Given the description of an element on the screen output the (x, y) to click on. 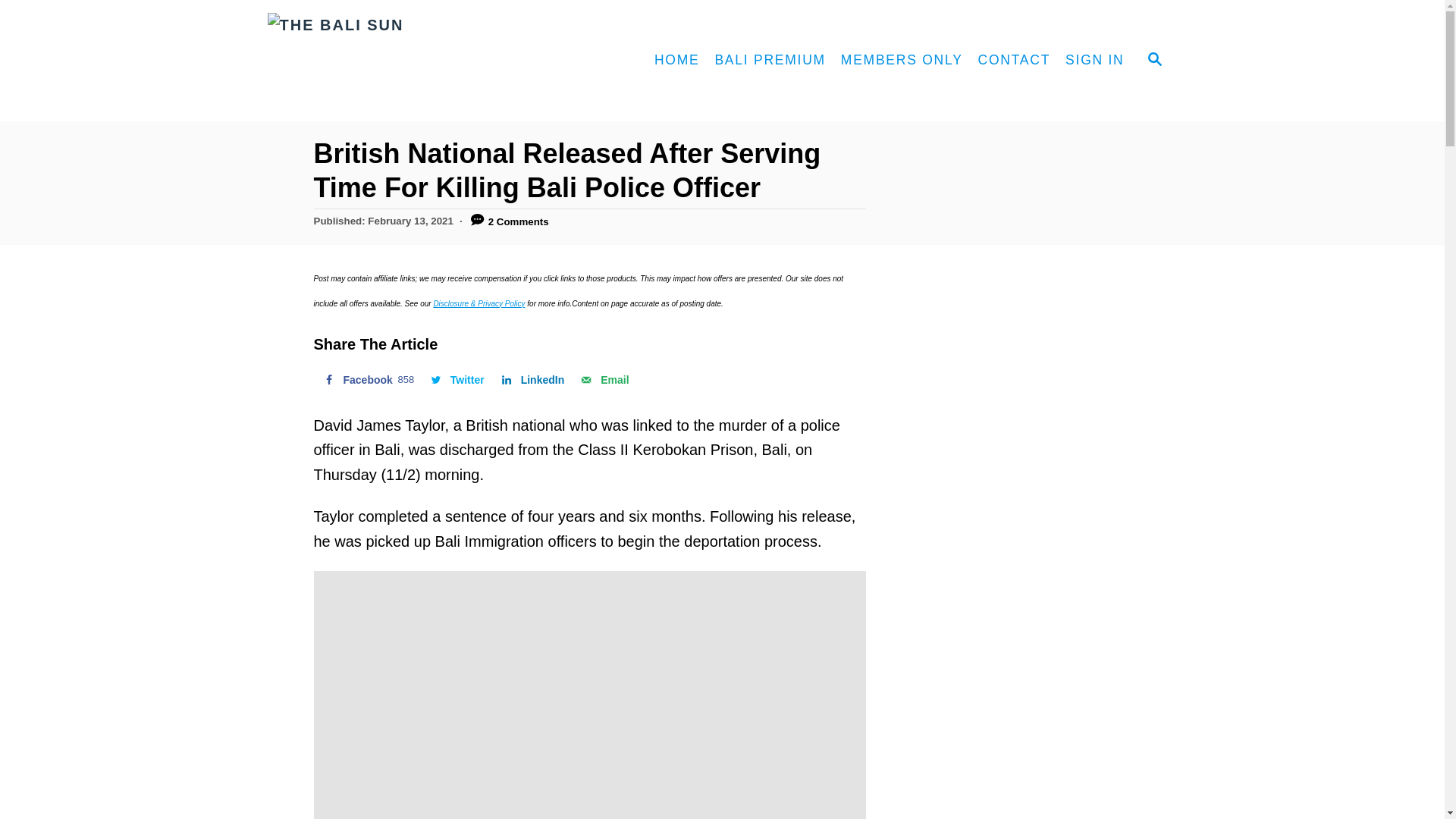
CONTACT (1014, 60)
BALI PREMIUM (769, 60)
Share on Twitter (367, 379)
HOME (456, 379)
The Bali Sun (676, 60)
LinkedIn (403, 60)
Share on LinkedIn (532, 379)
Email (532, 379)
Share on Facebook (602, 379)
Send over email (367, 379)
Twitter (602, 379)
SIGN IN (456, 379)
SEARCH (1094, 60)
MEMBERS ONLY (1153, 60)
